Given the description of an element on the screen output the (x, y) to click on. 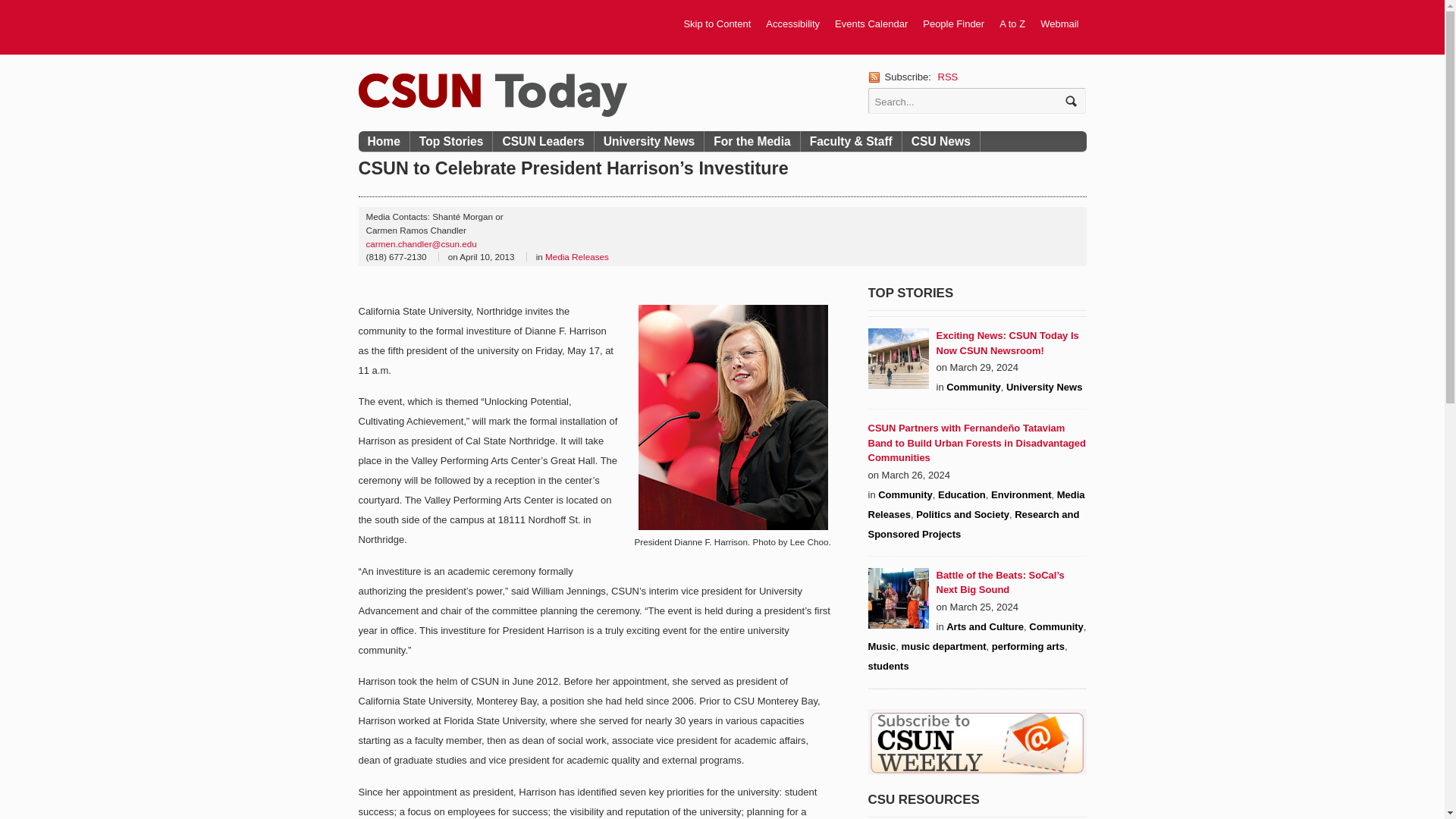
Webmail (1059, 24)
RSS (948, 76)
Home (383, 141)
California State University, Northridge (492, 94)
Search... (966, 100)
CSU News (940, 141)
Top Stories (451, 141)
Accessibility (792, 24)
CSUN Leaders (543, 141)
For the Media (751, 141)
